Given the description of an element on the screen output the (x, y) to click on. 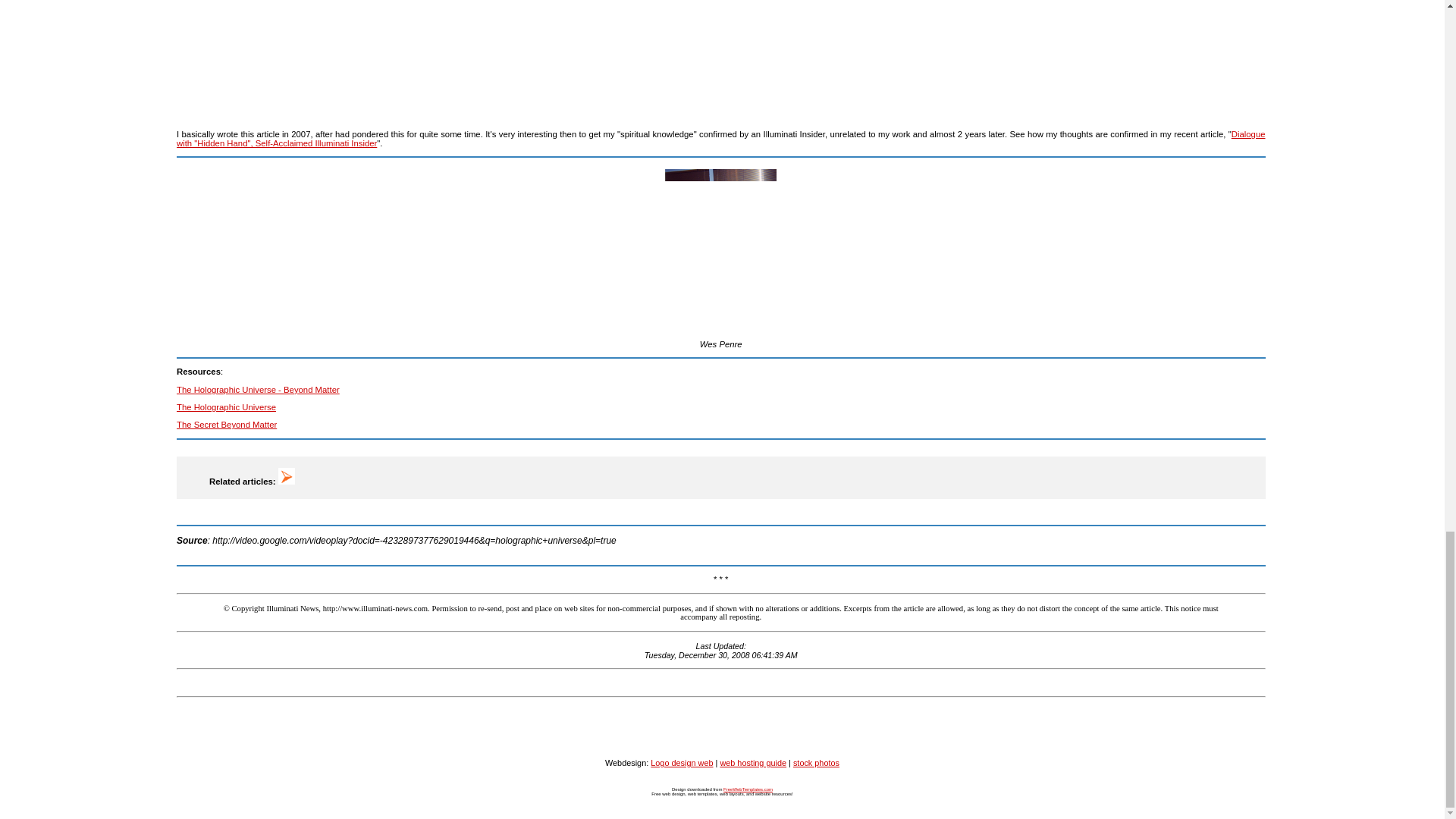
FreeWebTemplates.com (748, 789)
web hosting guide (752, 762)
stock photos (816, 762)
The Holographic Universe (226, 406)
The Secret Beyond Matter (226, 424)
The Holographic Universe - Beyond Matter (257, 388)
Logo design web (681, 762)
